Given the description of an element on the screen output the (x, y) to click on. 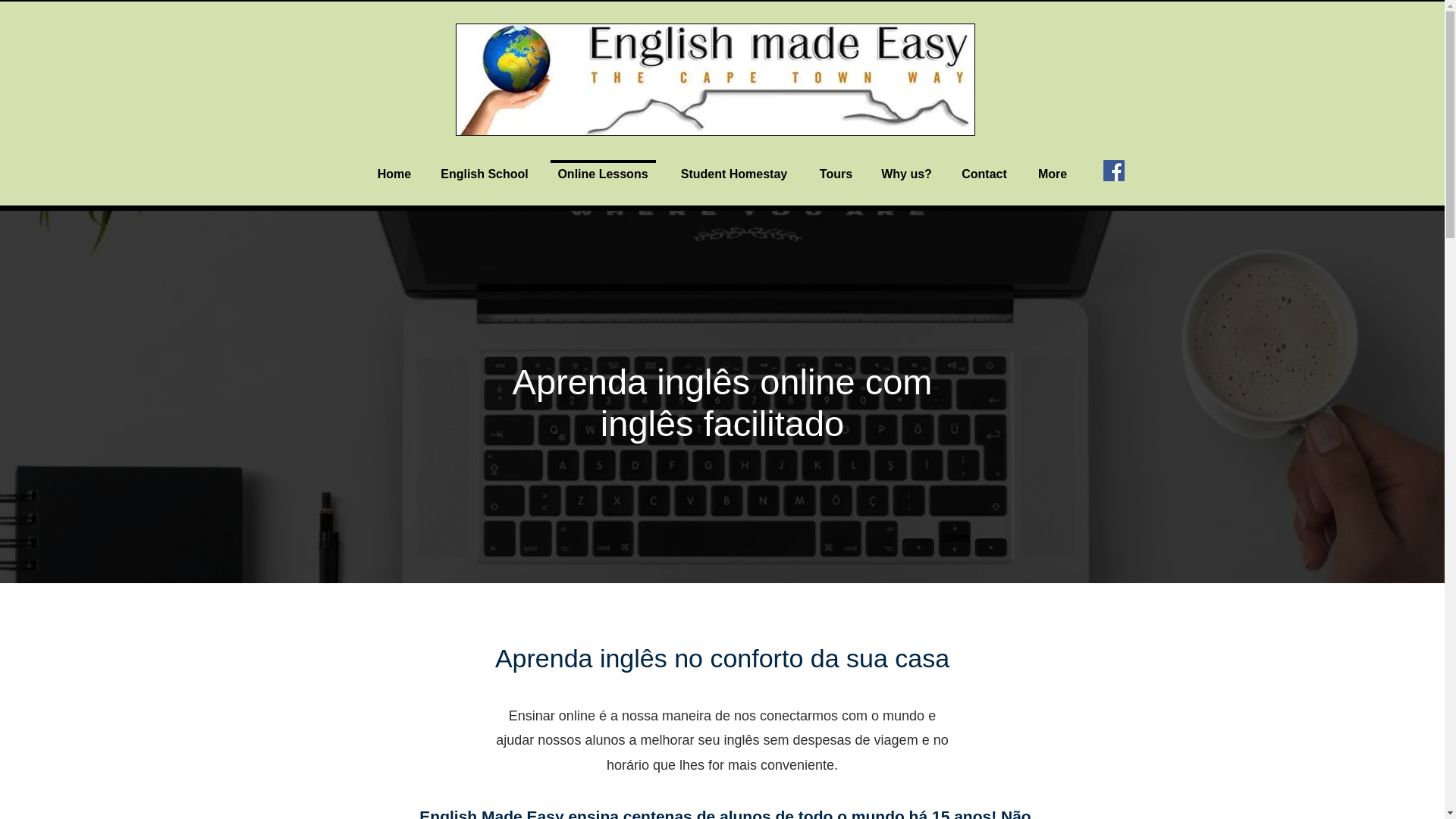
Student Homestay (733, 166)
Why us? (906, 166)
English School (483, 166)
Home (394, 166)
Online Lessons (603, 166)
Contact (984, 166)
Tours (836, 166)
